Given the description of an element on the screen output the (x, y) to click on. 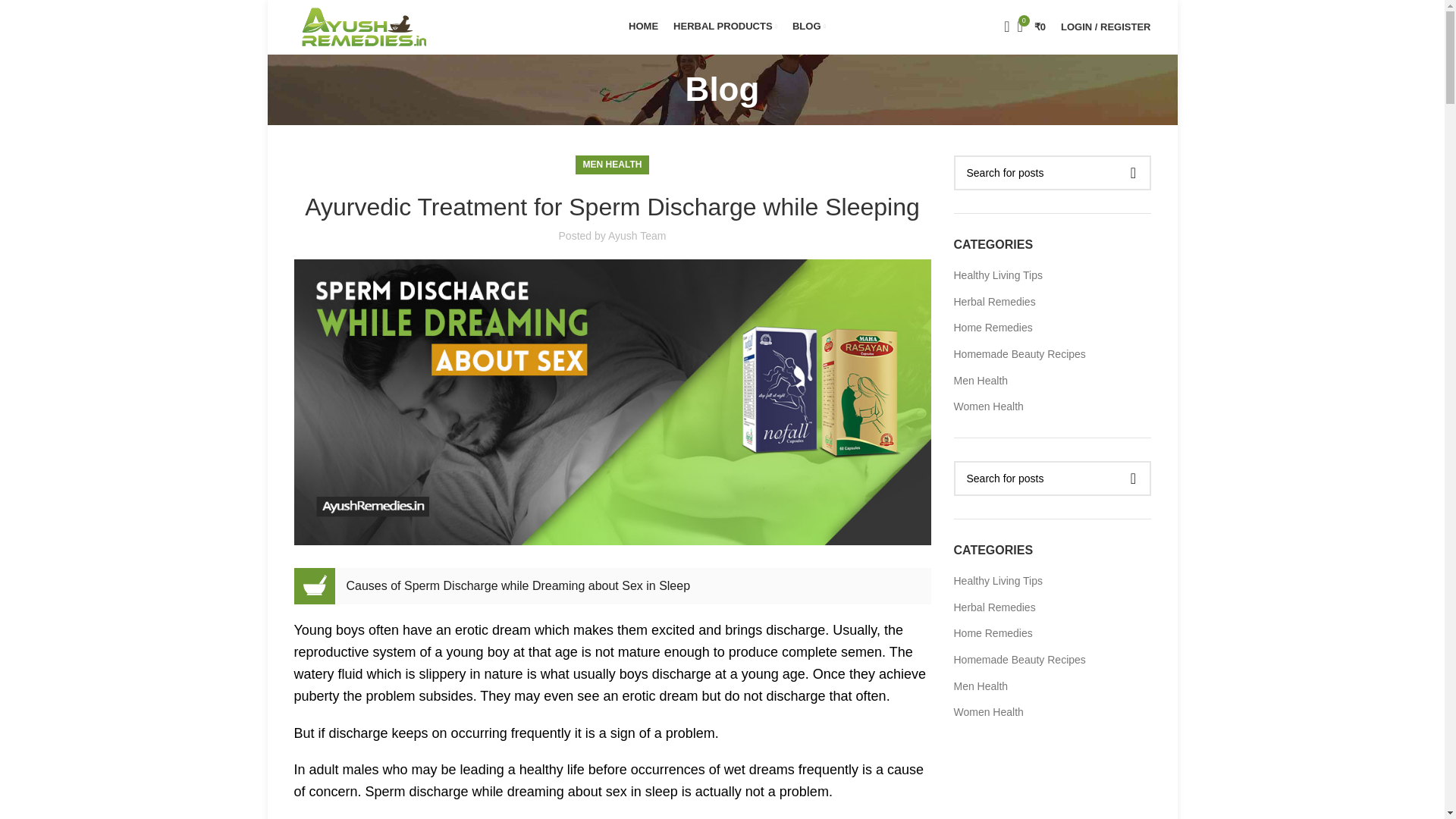
My account (1104, 26)
Shopping cart (1030, 26)
Search for posts (1052, 172)
Search for posts (1052, 478)
Search (1001, 26)
HERBAL PRODUCTS (724, 26)
HOME (643, 26)
